Given the description of an element on the screen output the (x, y) to click on. 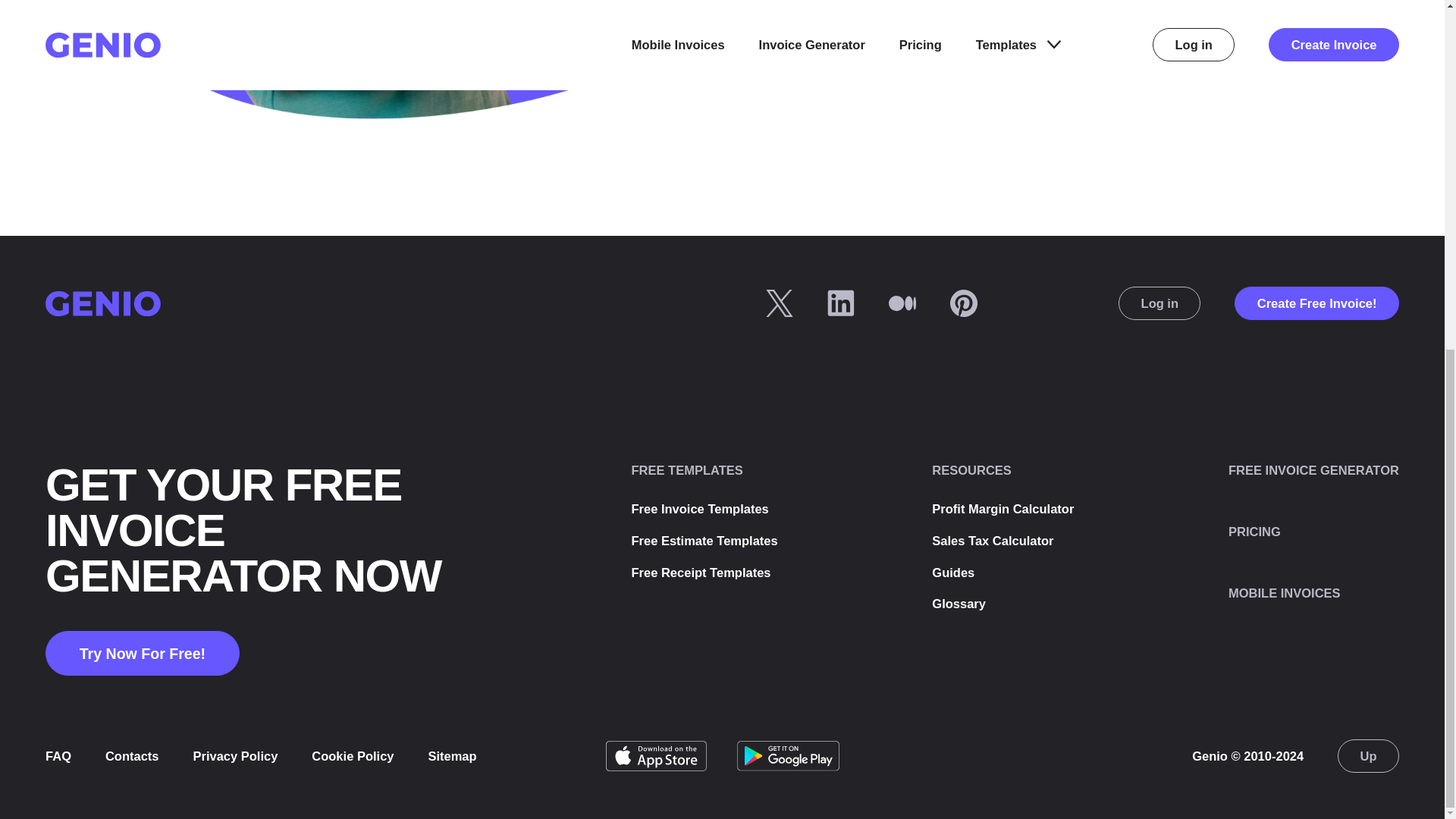
Log in (1158, 303)
